Given the description of an element on the screen output the (x, y) to click on. 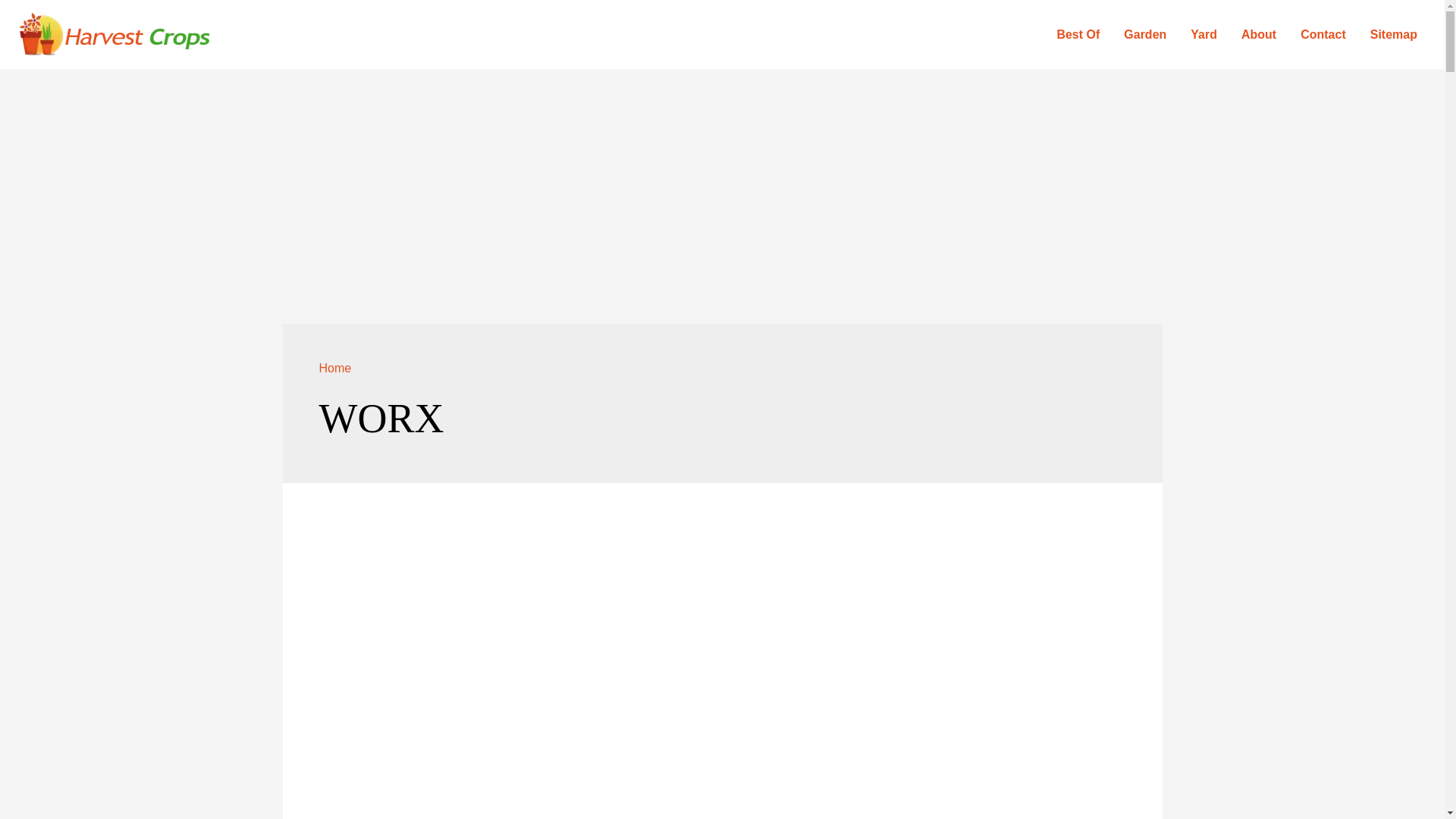
Contact (1323, 34)
Garden (1144, 34)
Home (334, 367)
Sitemap (1393, 34)
Best Of (1077, 34)
